Given the description of an element on the screen output the (x, y) to click on. 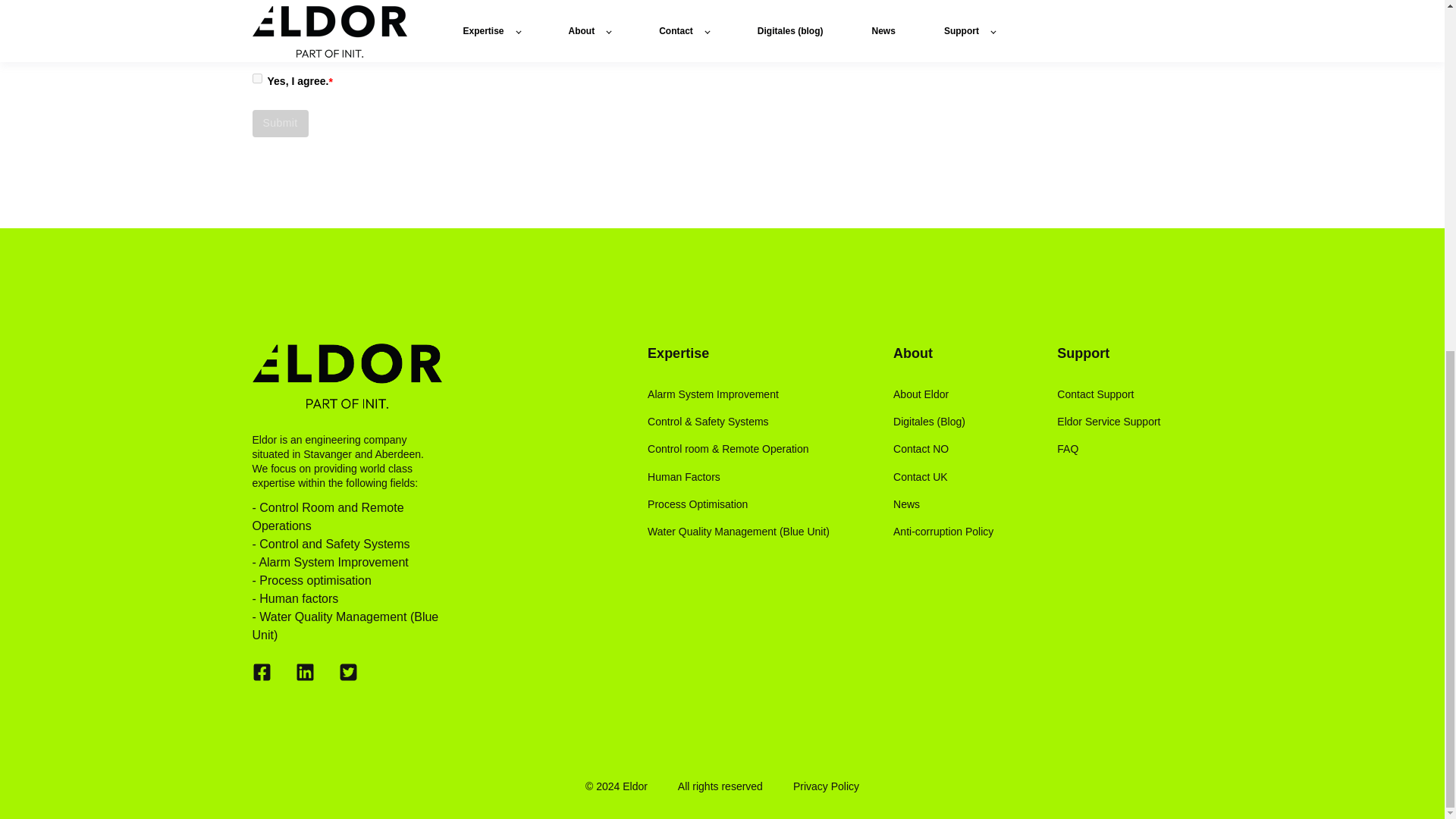
Contact UK (942, 477)
Submit (279, 123)
News (942, 504)
Privacy Policy (482, 26)
Alarm System Improvement (738, 394)
Human Factors (738, 477)
true (256, 78)
Process Optimisation (738, 504)
Contact NO (942, 449)
Submit (279, 123)
About Eldor (942, 394)
